Given the description of an element on the screen output the (x, y) to click on. 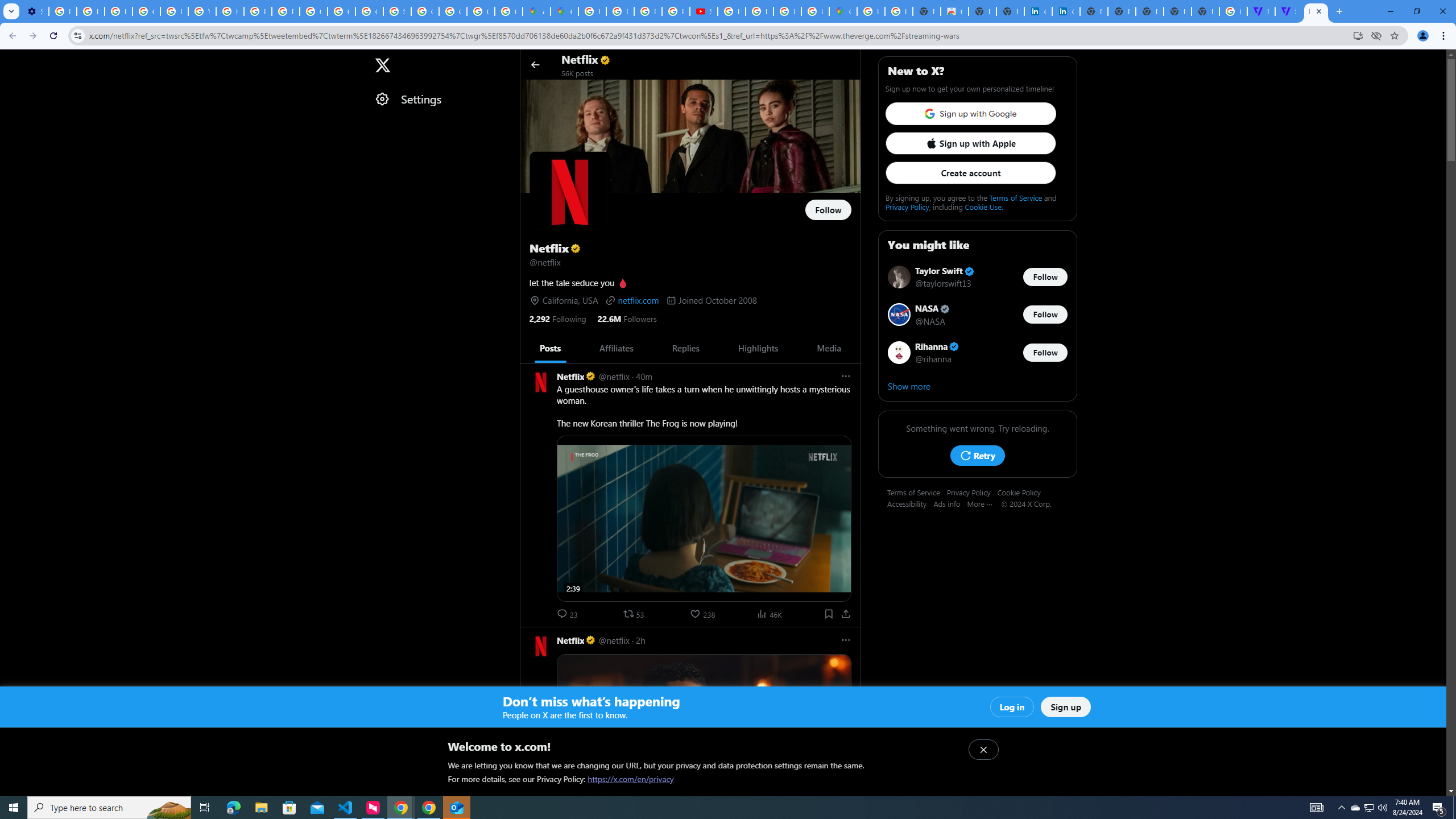
Sign up with Google (970, 113)
Settings - Customize profile (34, 11)
Square profile picture and Opens profile photo (569, 191)
53 reposts. Repost (634, 613)
Next (847, 347)
Bookmark (828, 613)
23 Replies. Reply (567, 613)
NASA Verified account @NASA Follow @NASA (977, 314)
@NASA (929, 320)
@rihanna (933, 358)
Square profile picture (540, 645)
